Given the description of an element on the screen output the (x, y) to click on. 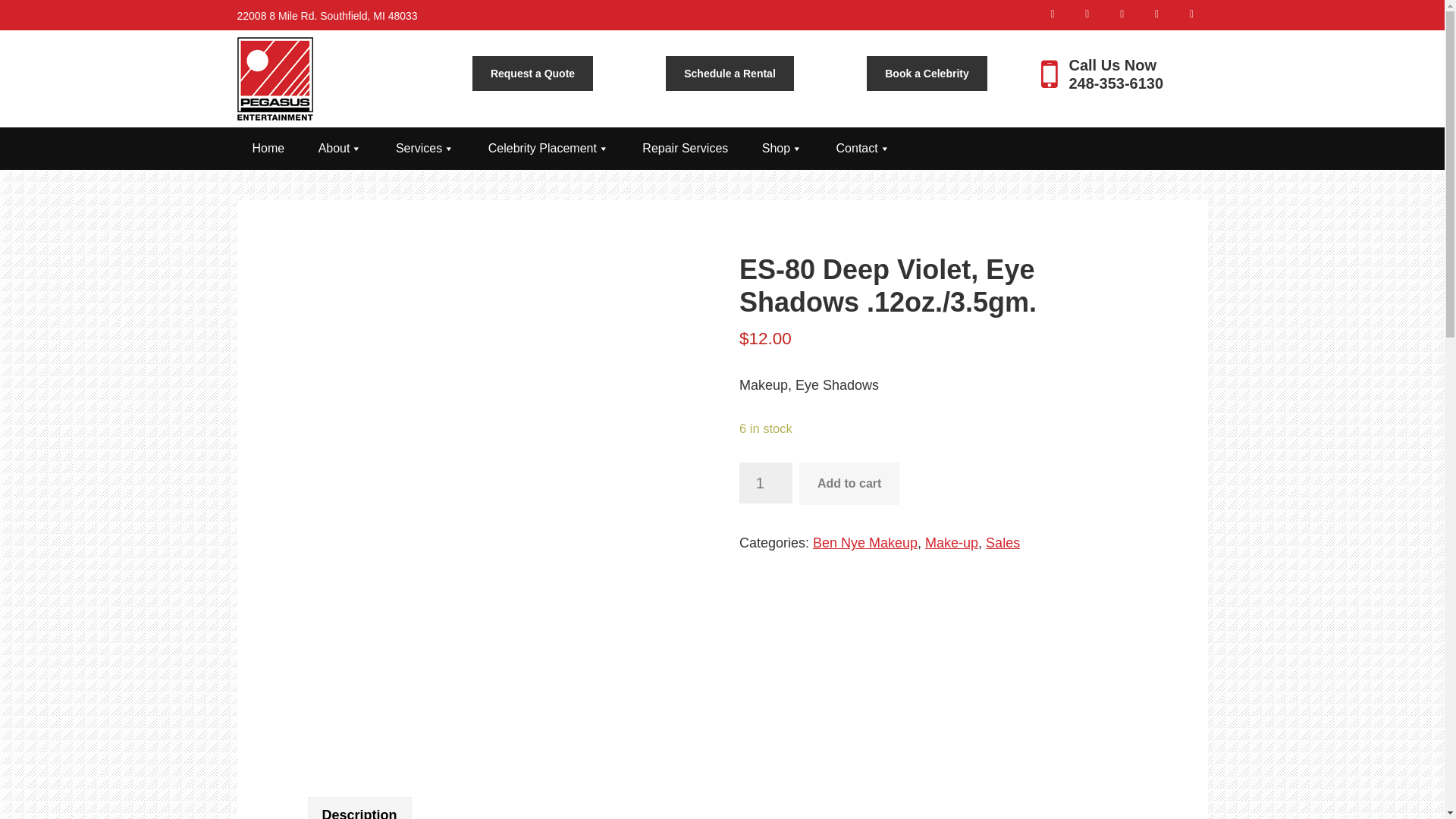
facebook (1053, 13)
Book a Celebrity (926, 73)
Request a Quote (531, 73)
youtube (1190, 13)
Twitter (1088, 13)
Celebrity Placement (548, 148)
Pegasus Entertainment (274, 78)
Instagram (1123, 13)
Home (267, 148)
Repair Services (684, 148)
